Given the description of an element on the screen output the (x, y) to click on. 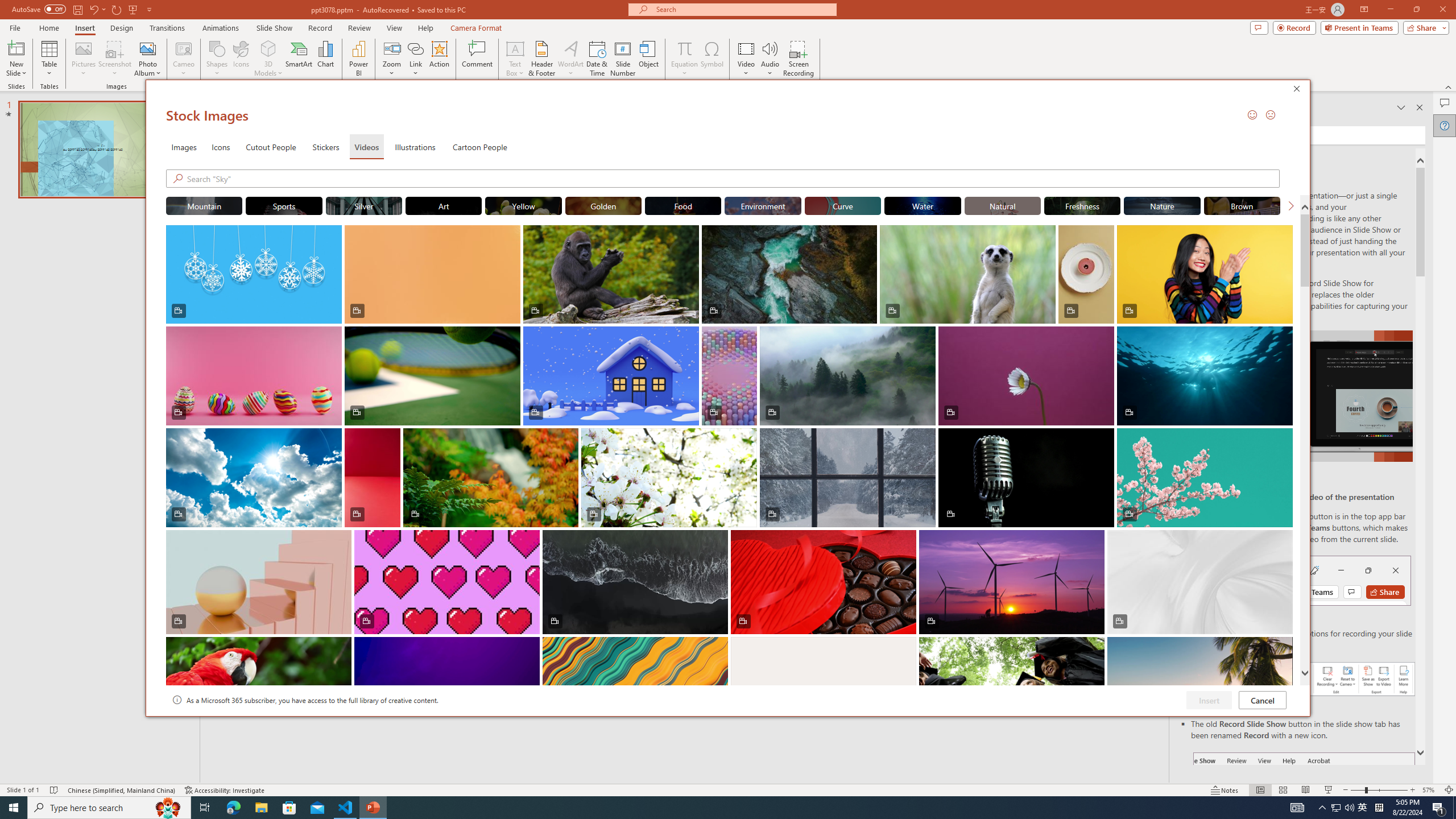
"Nature" Stock Videos. (1162, 205)
Action (439, 58)
Zoom 57% (1430, 790)
"Sports" Stock Videos. (283, 205)
Date & Time... (596, 58)
Illustrations (415, 146)
